Given the description of an element on the screen output the (x, y) to click on. 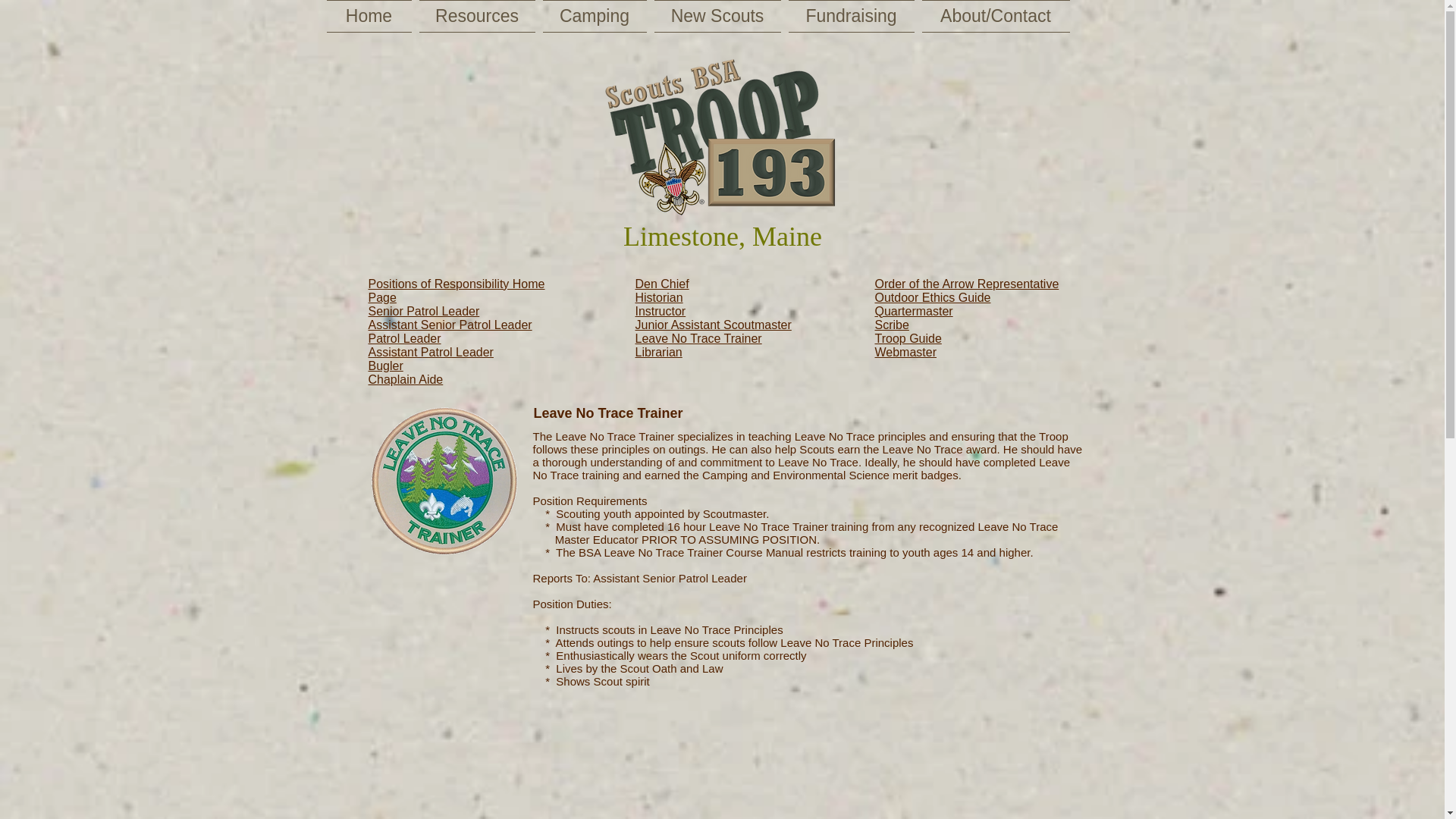
Assistant Patrol Leader (430, 351)
Instructor (659, 310)
Troop193transparent.png (719, 142)
Librarian (658, 351)
Leave No Trace Trainer (697, 338)
Senior Patrol Leader (424, 310)
Webmaster (906, 351)
Scribe (891, 324)
Outdoor Ethics Guide (933, 297)
Junior Assistant Scoutmaster (713, 324)
